Given the description of an element on the screen output the (x, y) to click on. 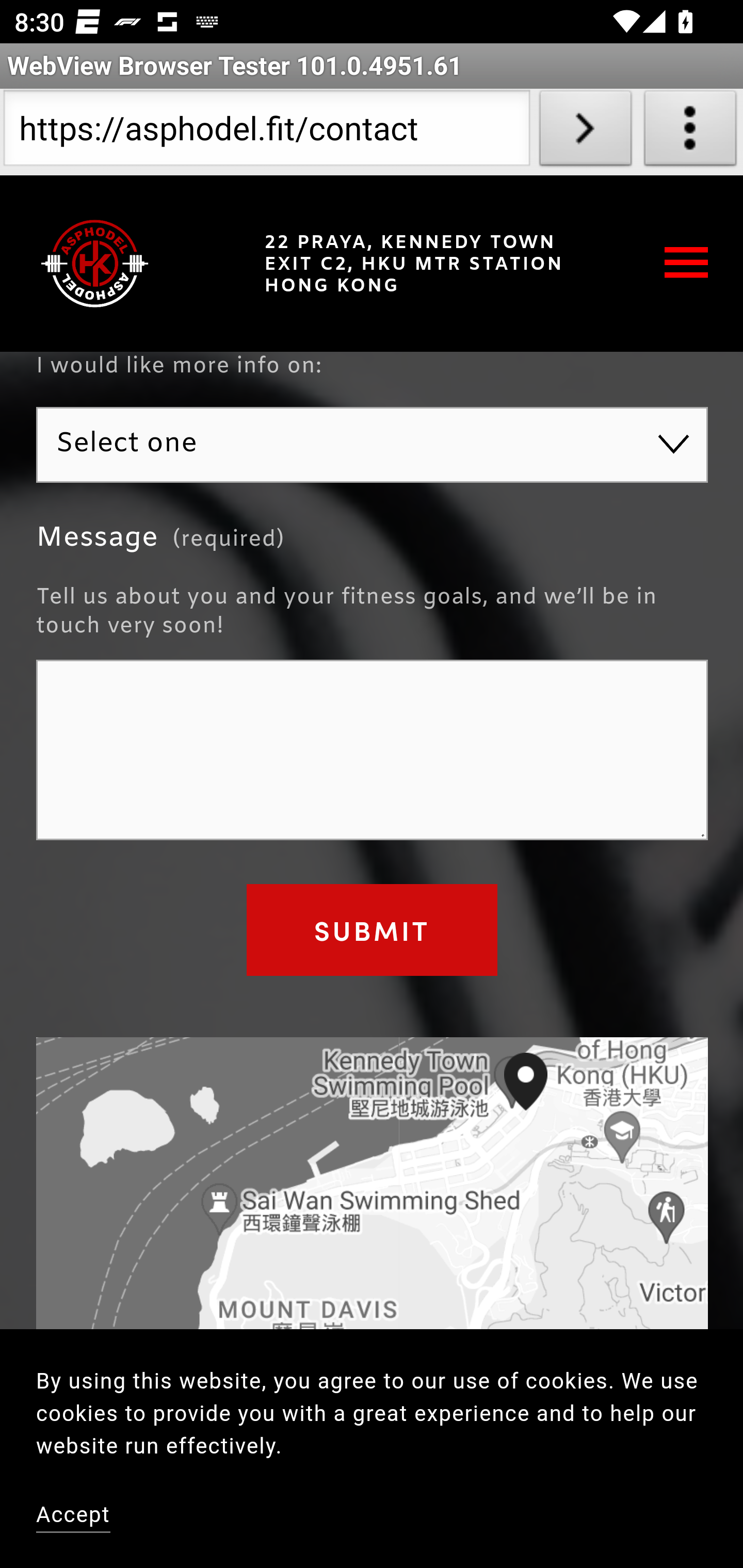
https://asphodel.fit/contact (266, 132)
Load URL (585, 132)
About WebView (690, 132)
Asphodel Fitness (95, 263)
Open navigation menu (686, 264)
Select one (372, 446)
SUBMIT (371, 931)
Accept (74, 1517)
